Given the description of an element on the screen output the (x, y) to click on. 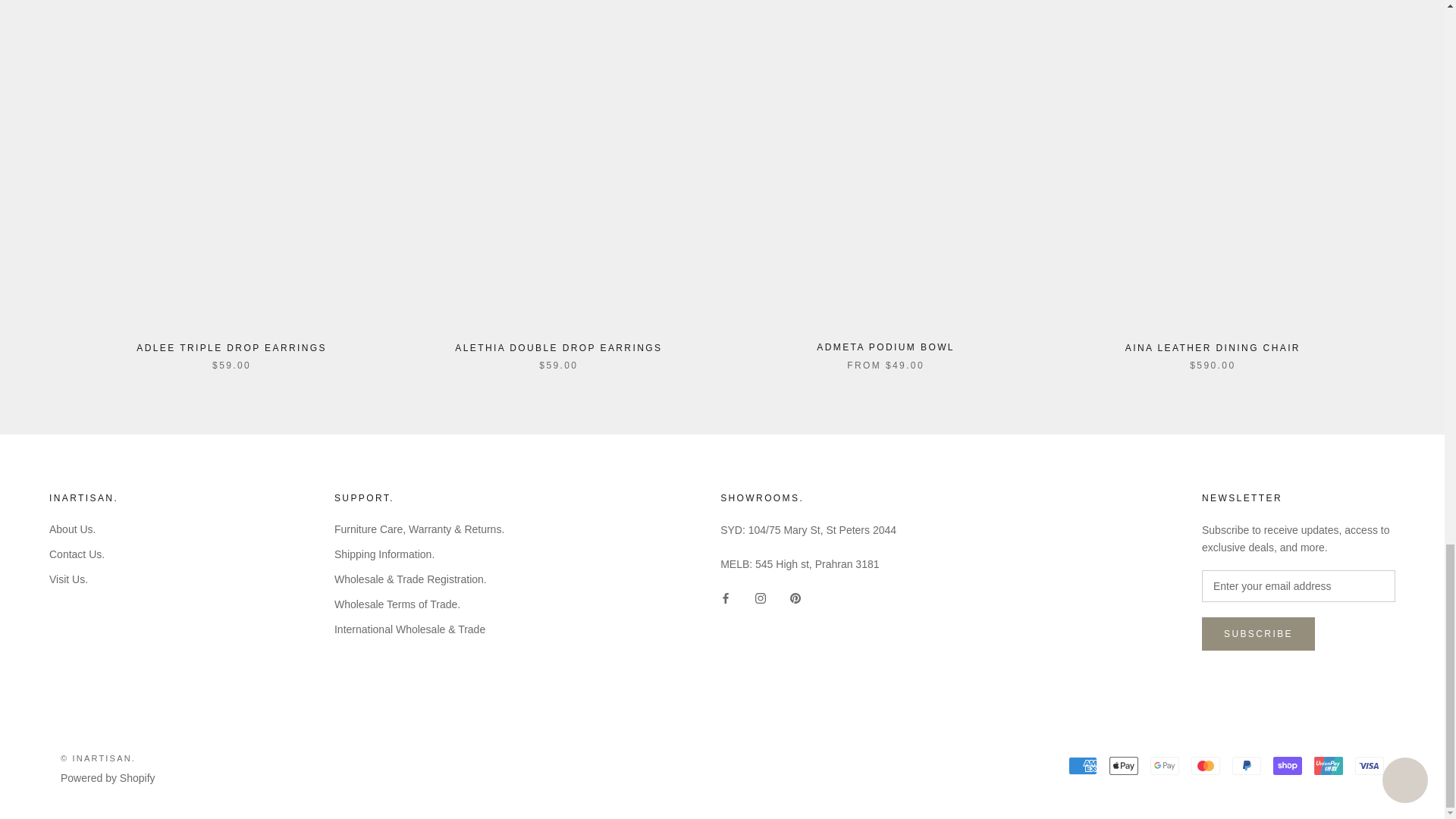
Apple Pay (1123, 765)
American Express (1082, 765)
Shop Pay (1286, 765)
Google Pay (1164, 765)
Mastercard (1205, 765)
Visa (1369, 765)
Union Pay (1328, 765)
PayPal (1245, 765)
